Given the description of an element on the screen output the (x, y) to click on. 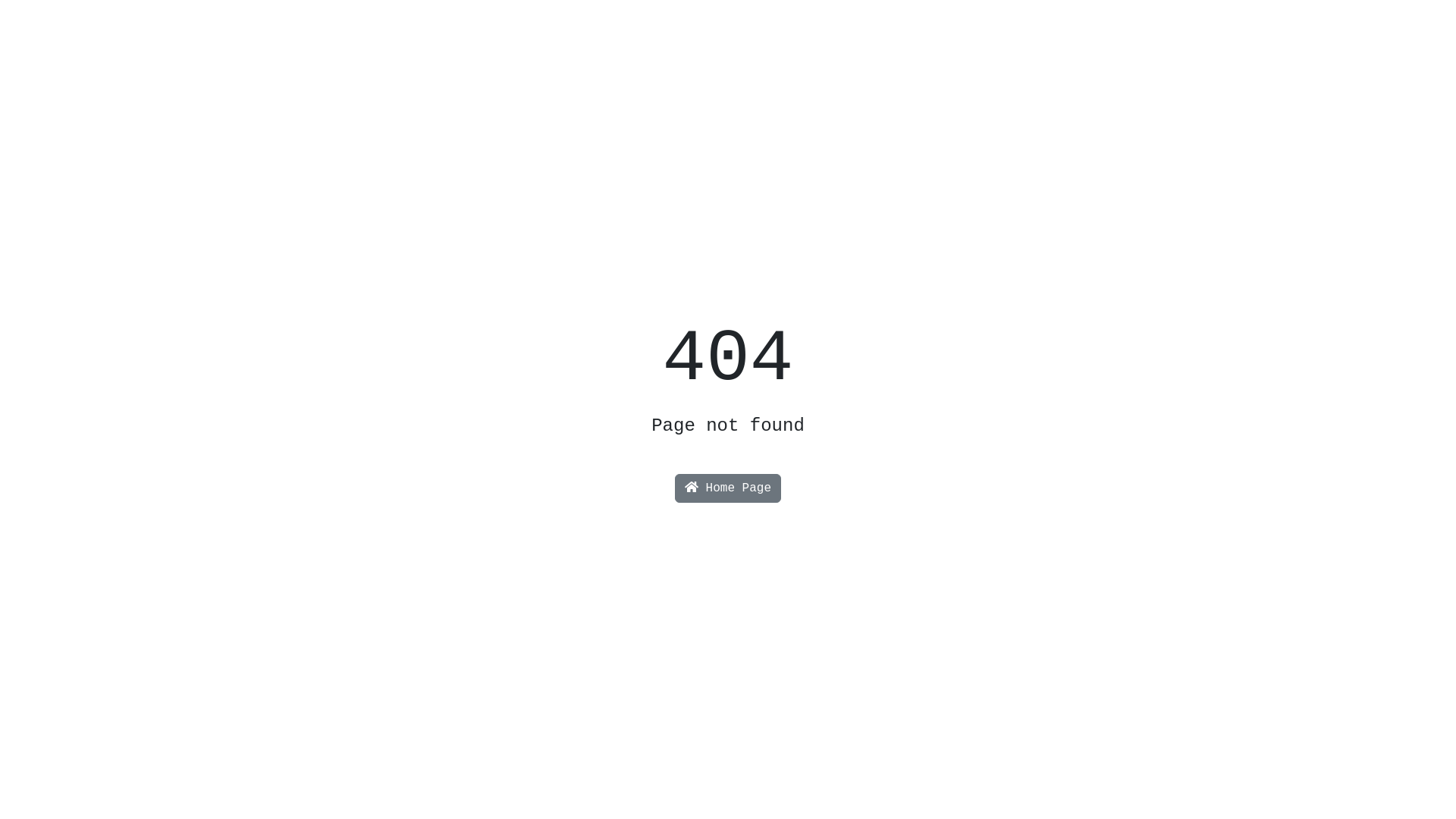
Home Page Element type: text (727, 487)
